Given the description of an element on the screen output the (x, y) to click on. 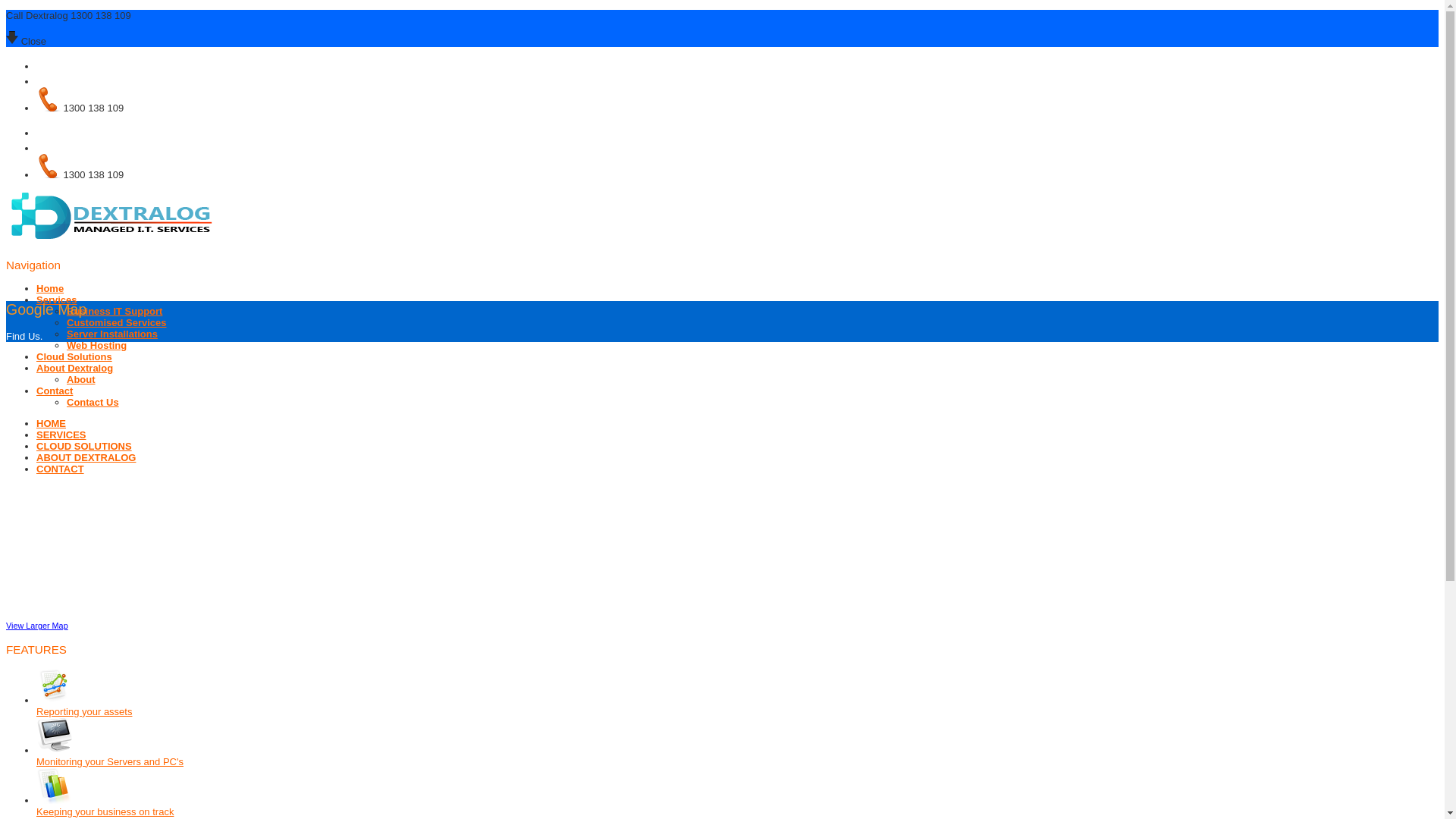
Home Element type: text (49, 288)
Server Installations Element type: text (111, 333)
About Dextralog Element type: text (74, 367)
Web Hosting Element type: text (96, 345)
Customised Services Element type: text (116, 322)
Reporting your assets Element type: text (83, 711)
Monitoring your Servers and PC's Element type: text (109, 761)
View Larger Map Element type: text (37, 625)
CONTACT Element type: text (60, 468)
Business IT Support Element type: text (114, 310)
Contact Element type: text (54, 390)
HOME Element type: text (50, 423)
CLOUD SOLUTIONS Element type: text (83, 445)
SERVICES Element type: text (61, 434)
Contact Us Element type: text (92, 401)
Keeping your business on track Element type: text (104, 811)
Cloud Solutions Element type: text (74, 356)
ABOUT DEXTRALOG Element type: text (85, 457)
About Element type: text (80, 379)
Services Element type: text (56, 299)
